Given the description of an element on the screen output the (x, y) to click on. 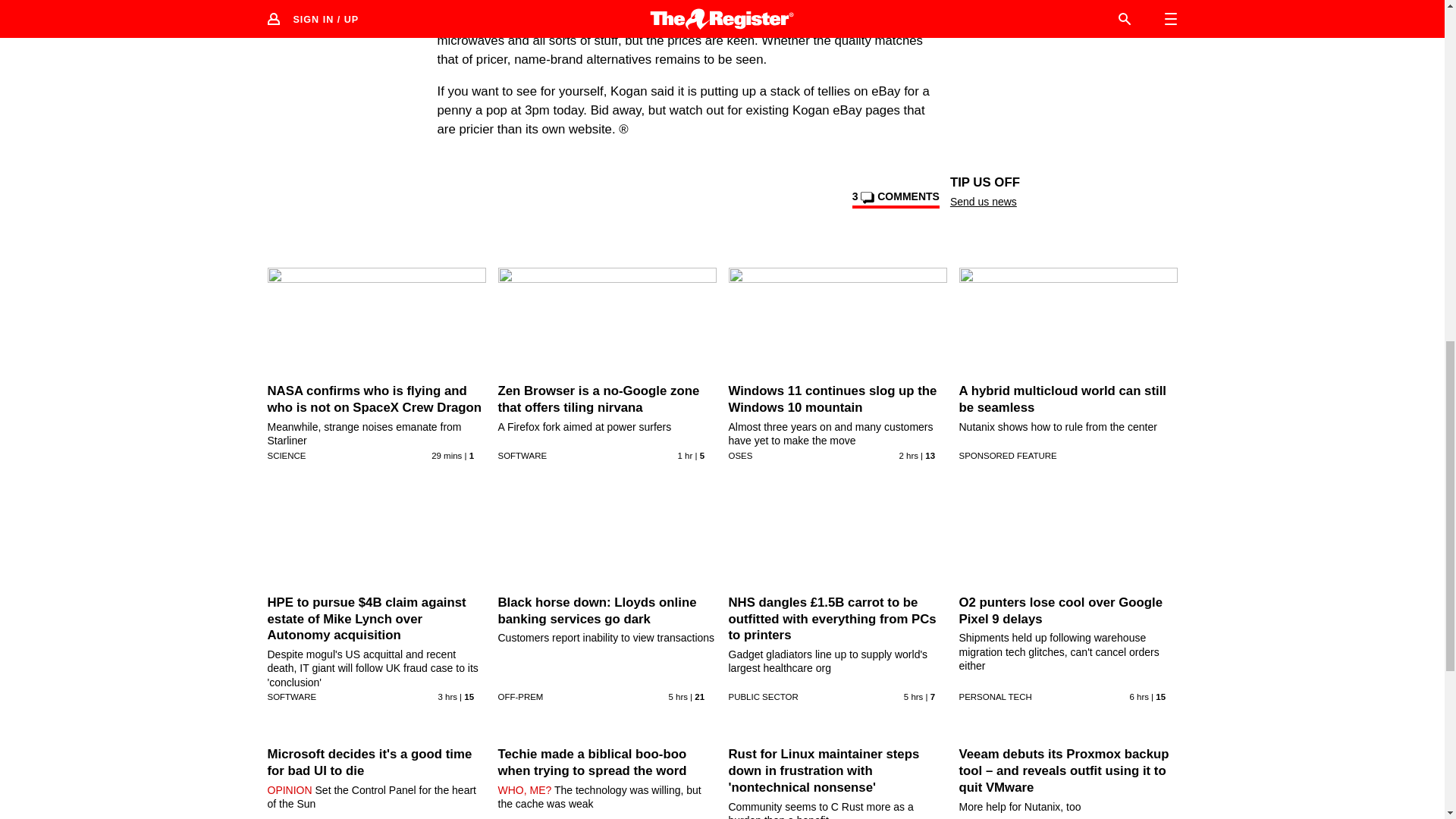
2 Sep 2024 15:26 (445, 455)
2 Sep 2024 10:34 (913, 696)
2 Sep 2024 14:34 (685, 455)
2 Sep 2024 13:33 (908, 455)
2 Sep 2024 12:58 (447, 696)
2 Sep 2024 11:21 (677, 696)
2 Sep 2024 9:45 (1138, 696)
View comments on this article (895, 199)
